Given the description of an element on the screen output the (x, y) to click on. 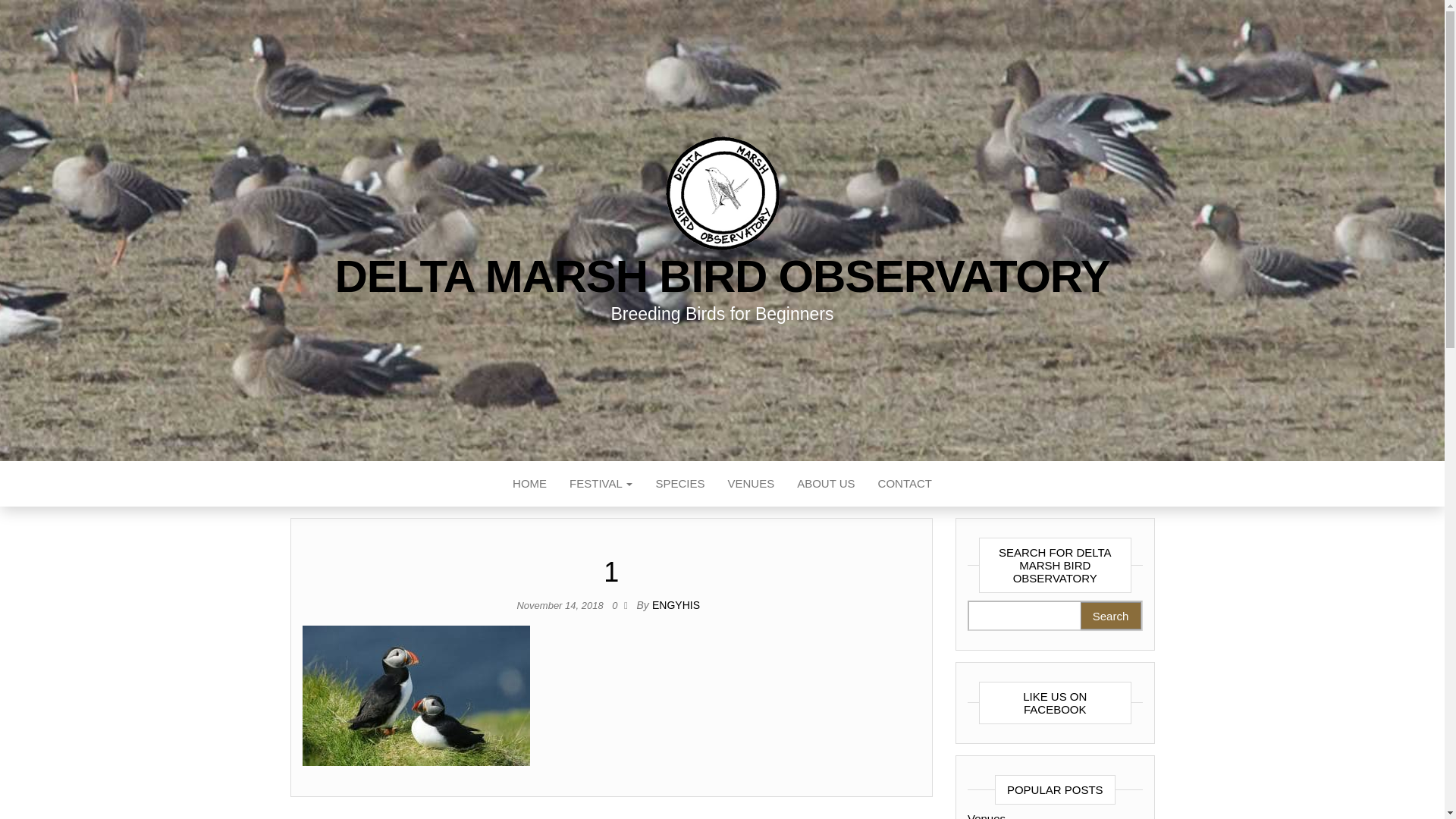
CONTACT (904, 483)
SPECIES (679, 483)
Festival (600, 483)
0 (617, 604)
ENGYHIS (676, 604)
Species (679, 483)
DELTA MARSH BIRD OBSERVATORY (721, 276)
Search (1110, 615)
Home (528, 483)
ABOUT US (826, 483)
FESTIVAL (600, 483)
Venues (751, 483)
Venues (987, 815)
About Us (826, 483)
HOME (528, 483)
